Given the description of an element on the screen output the (x, y) to click on. 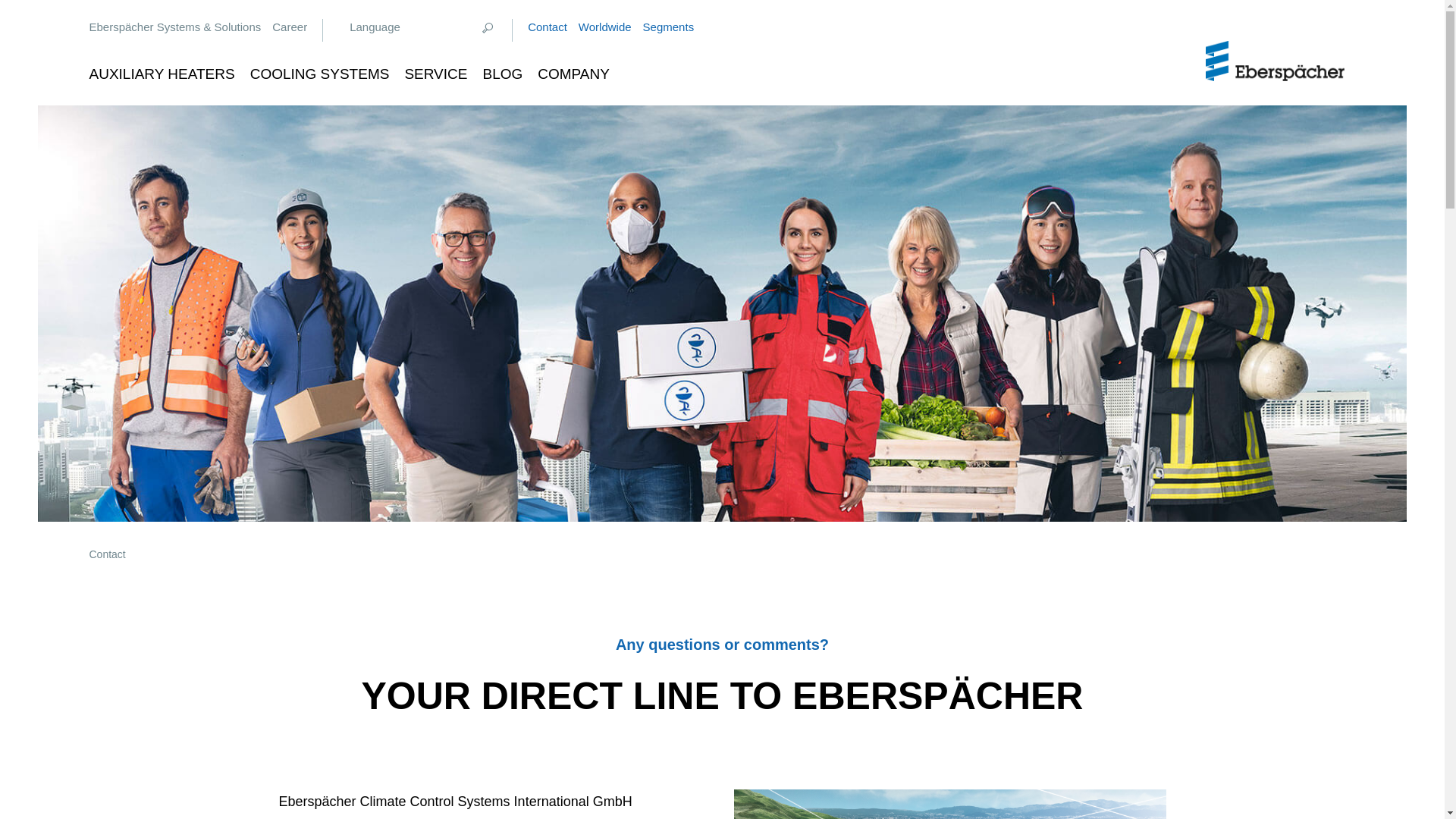
Career (289, 26)
Contact (547, 26)
Contact (547, 26)
Contact (106, 554)
COOLING SYSTEMS (320, 67)
BLOG (501, 67)
Language (374, 26)
AUXILIARY HEATERS (161, 67)
Worldwide (604, 26)
Worldwide (604, 26)
Segments (668, 26)
Career (289, 26)
COMPANY (573, 62)
SERVICE (435, 67)
